Given the description of an element on the screen output the (x, y) to click on. 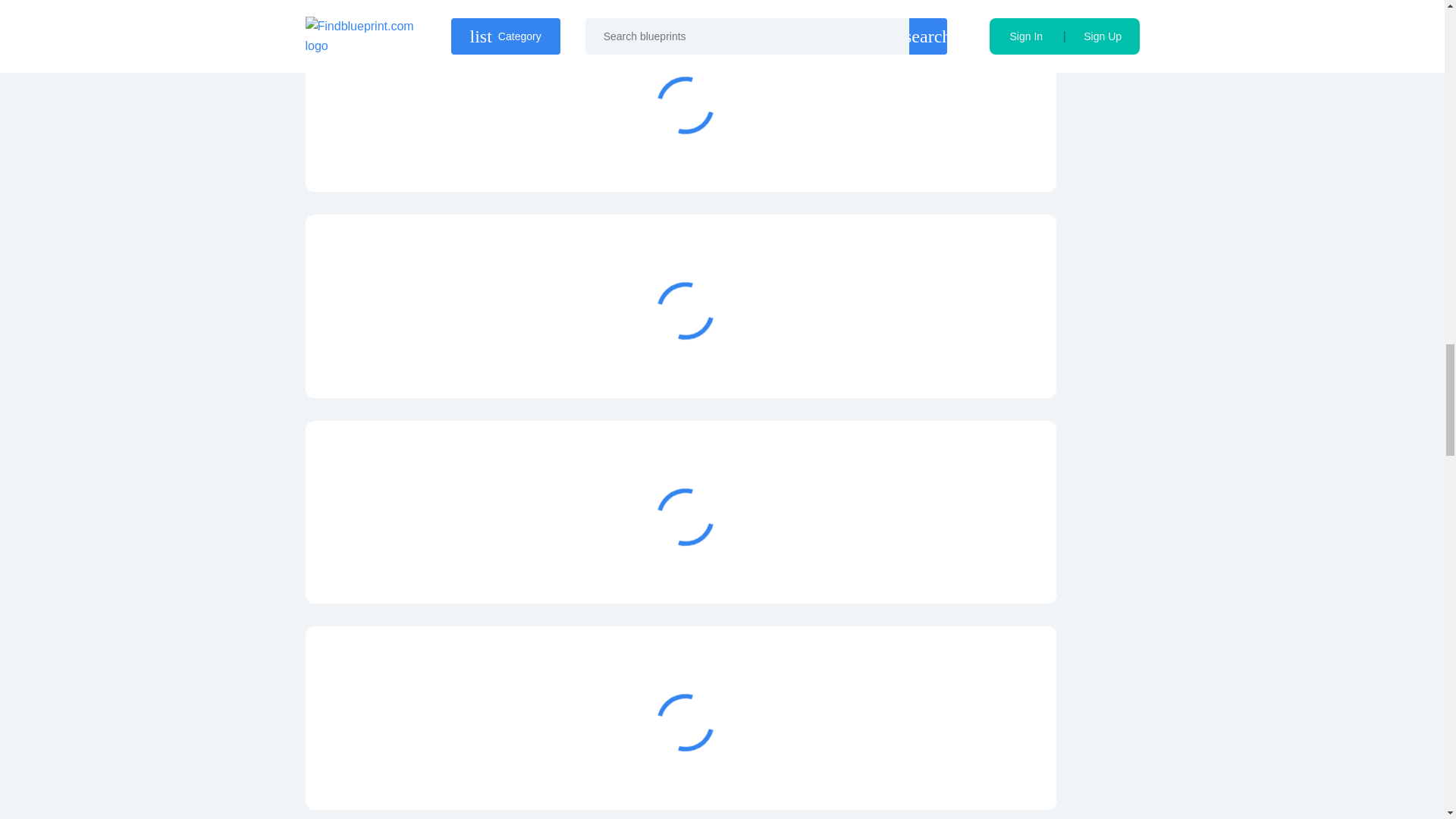
More (962, 155)
More (962, 361)
